Given the description of an element on the screen output the (x, y) to click on. 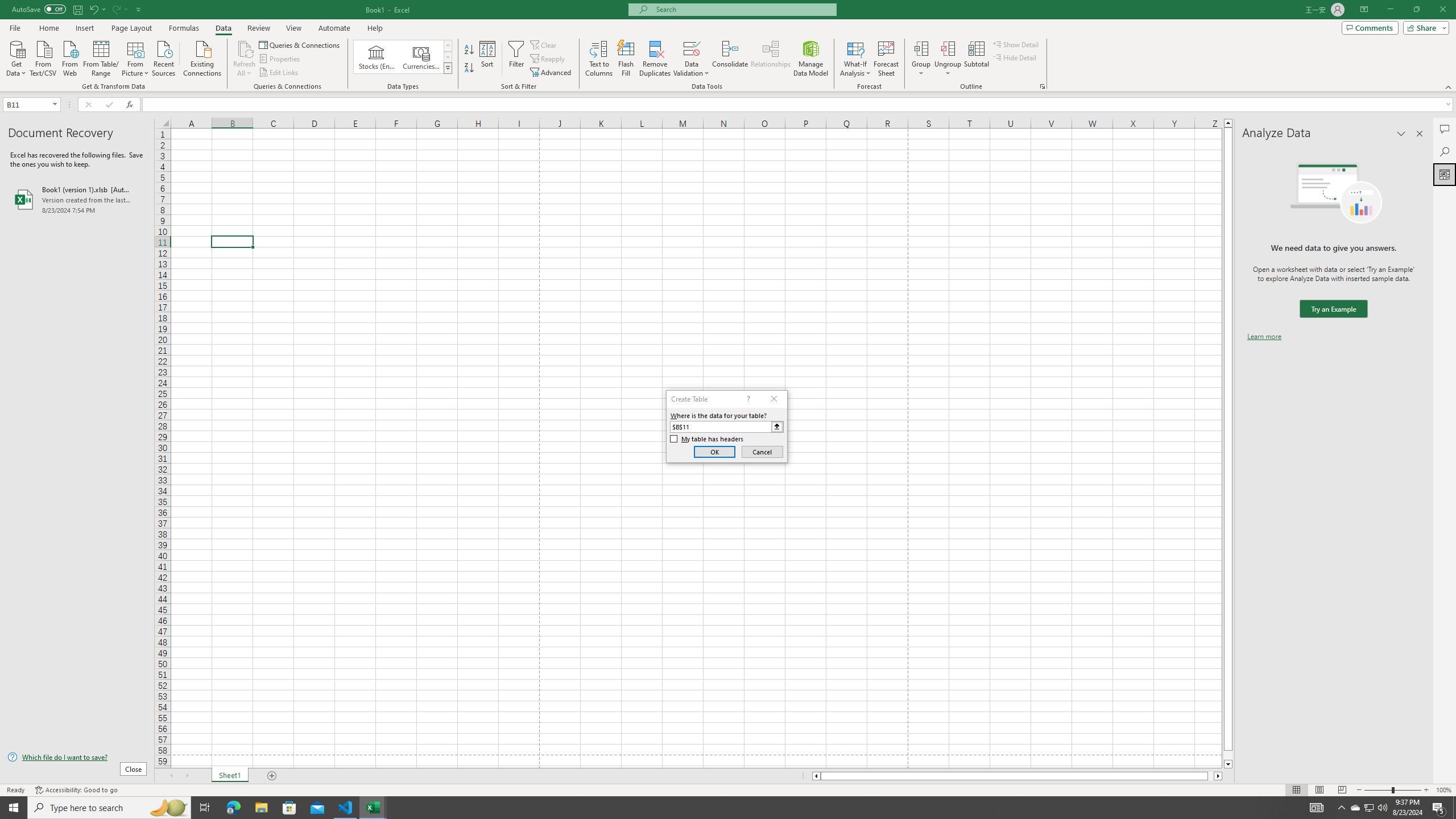
Formula Bar (799, 104)
Group and Outline Settings (1042, 85)
